Given the description of an element on the screen output the (x, y) to click on. 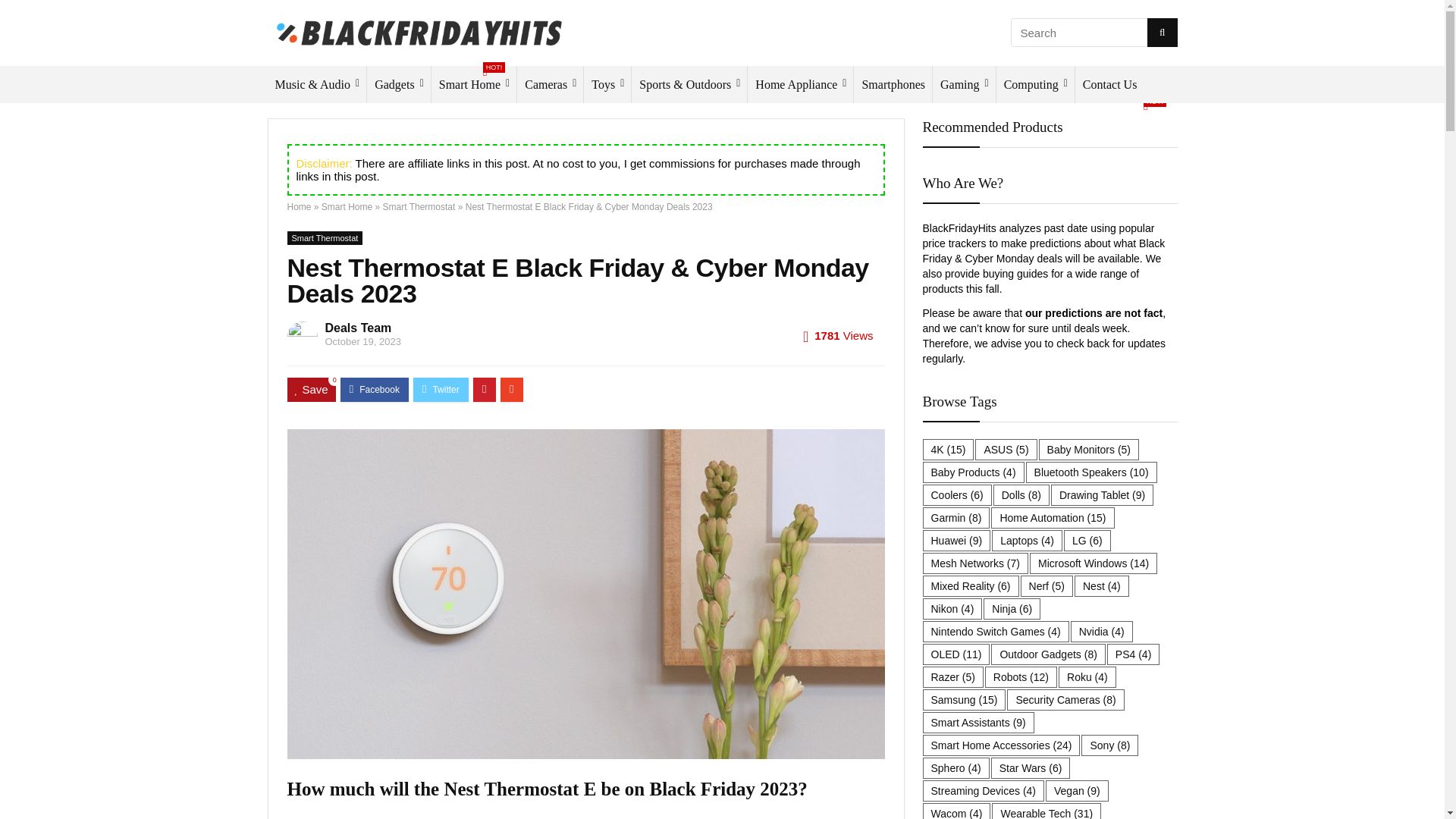
Gadgets (398, 84)
Toys (606, 84)
View all posts in Smart Thermostat (324, 237)
Home Appliance (800, 84)
Cameras (549, 84)
